Given the description of an element on the screen output the (x, y) to click on. 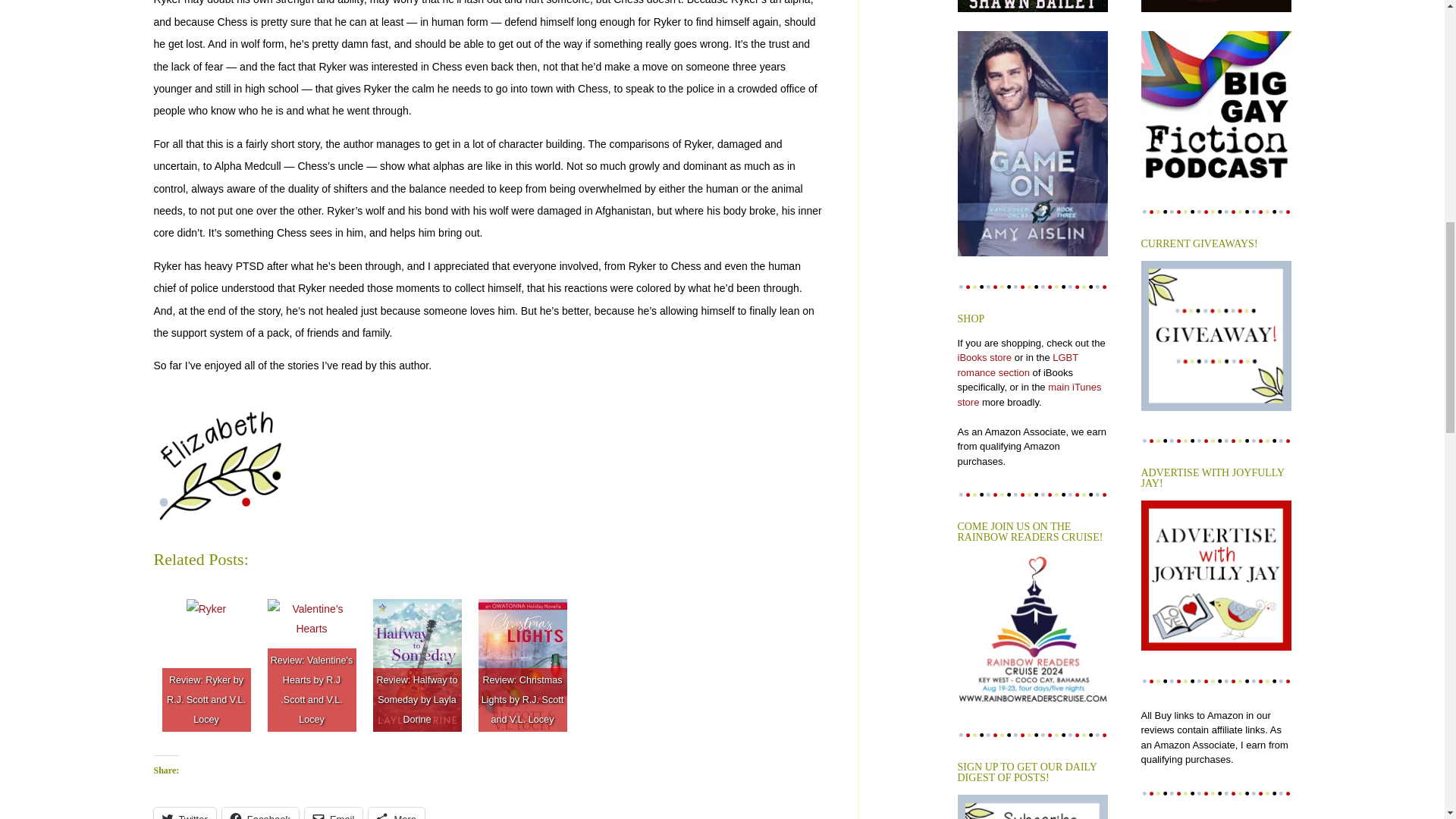
Review: Ryker by R.J. Scott and V.L. Locey (206, 608)
Click to share on Facebook (260, 813)
Review: Valentine's Hearts by R.J .Scott and V.L. Locey (310, 618)
Click to email a link to a friend (333, 813)
Click to share on Twitter (183, 813)
